Given the description of an element on the screen output the (x, y) to click on. 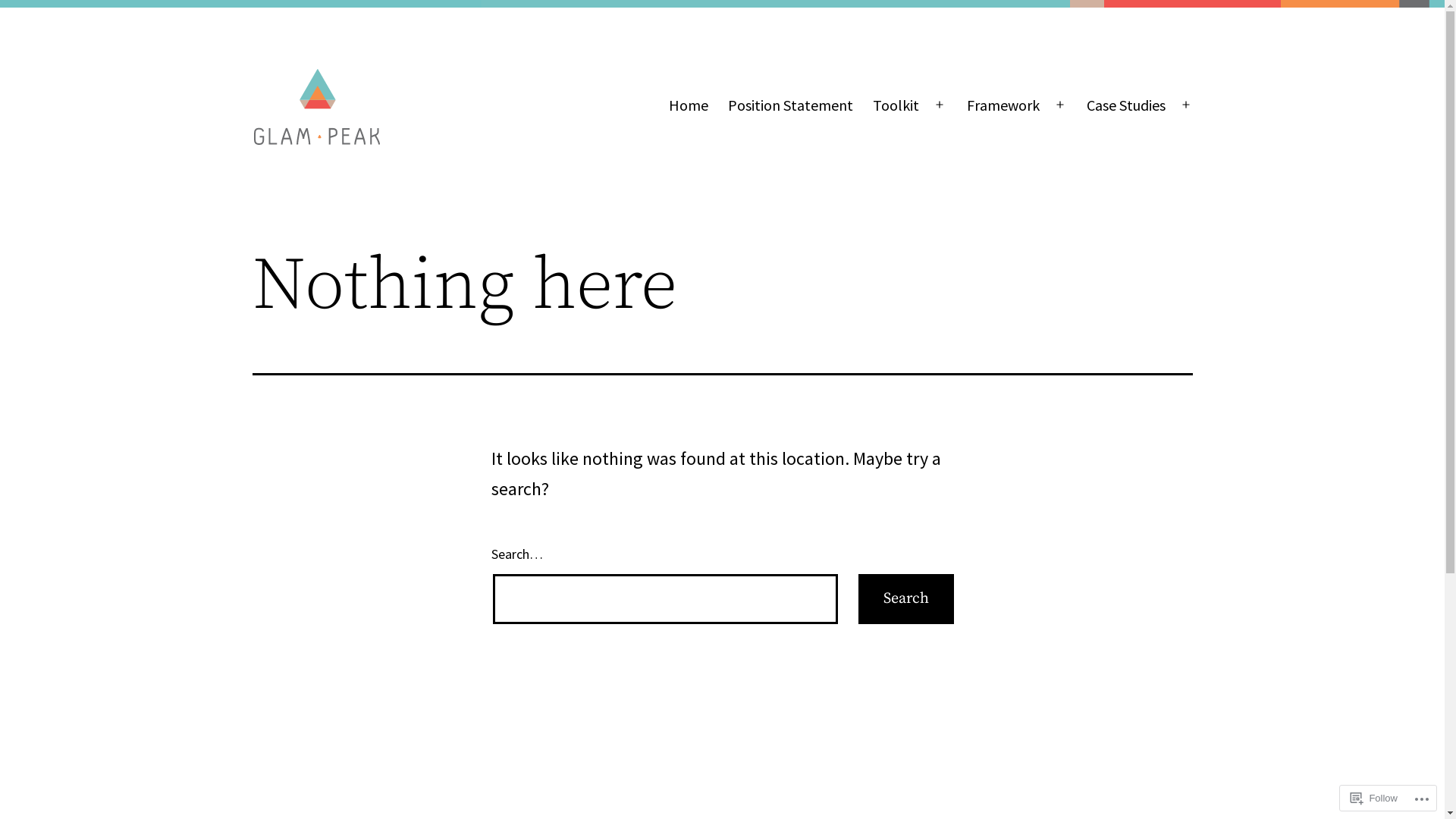
Position Statement Element type: text (790, 105)
Case Studies Element type: text (1125, 105)
Follow Element type: text (1373, 797)
Toolkit Element type: text (895, 105)
Home Element type: text (687, 105)
Search Element type: text (905, 599)
Framework Element type: text (1002, 105)
